Given the description of an element on the screen output the (x, y) to click on. 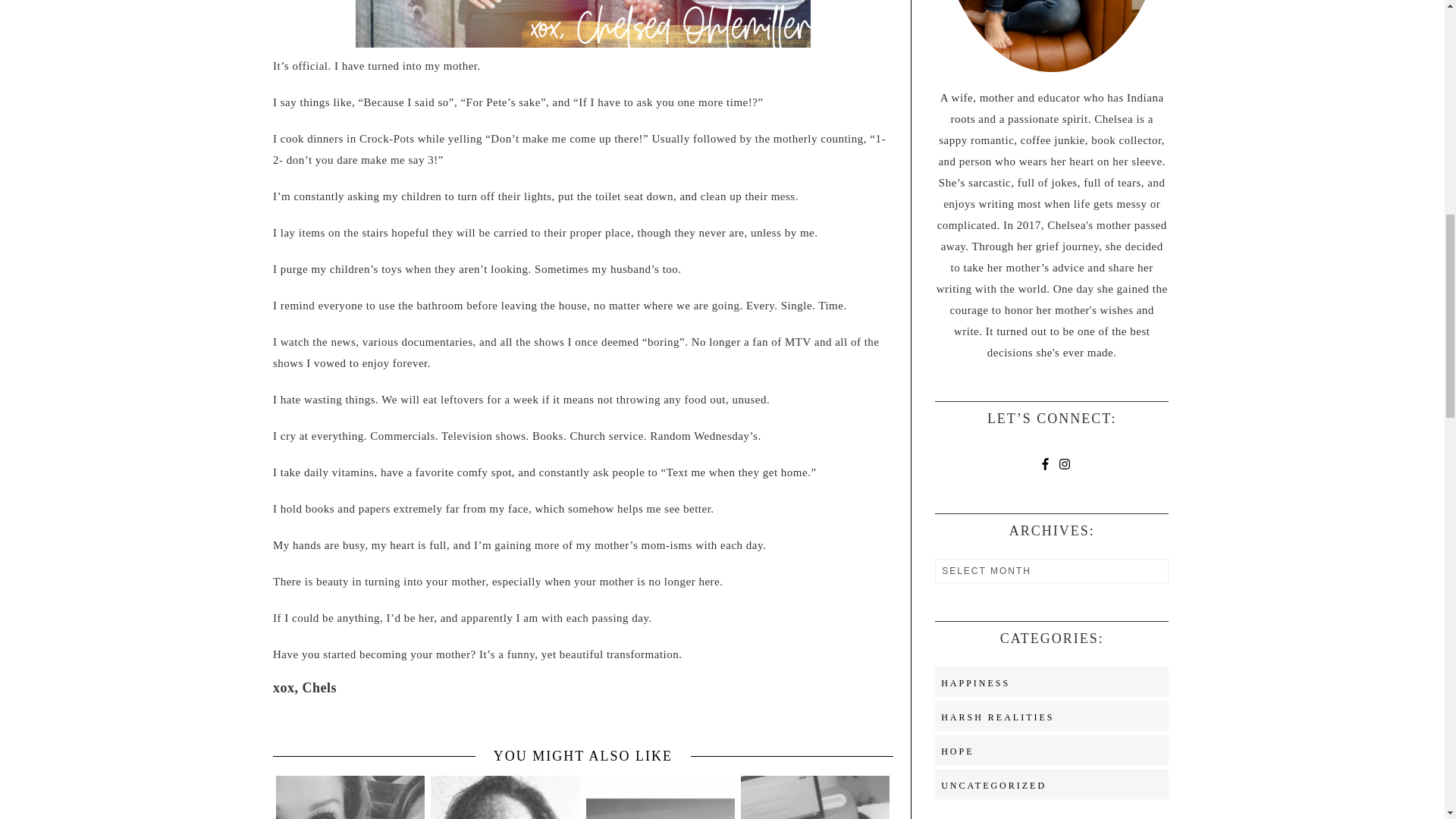
HOPE (957, 751)
THE PLACES I NEVER FOUND HER (660, 796)
HARSH REALITIES (997, 716)
THE ONE WHO TOOK THE REINS (350, 796)
HAPPINESS (975, 683)
UNCATEGORIZED (993, 785)
LIFE DREAMED VERSUS LIFE RECEIVED (504, 796)
